Given the description of an element on the screen output the (x, y) to click on. 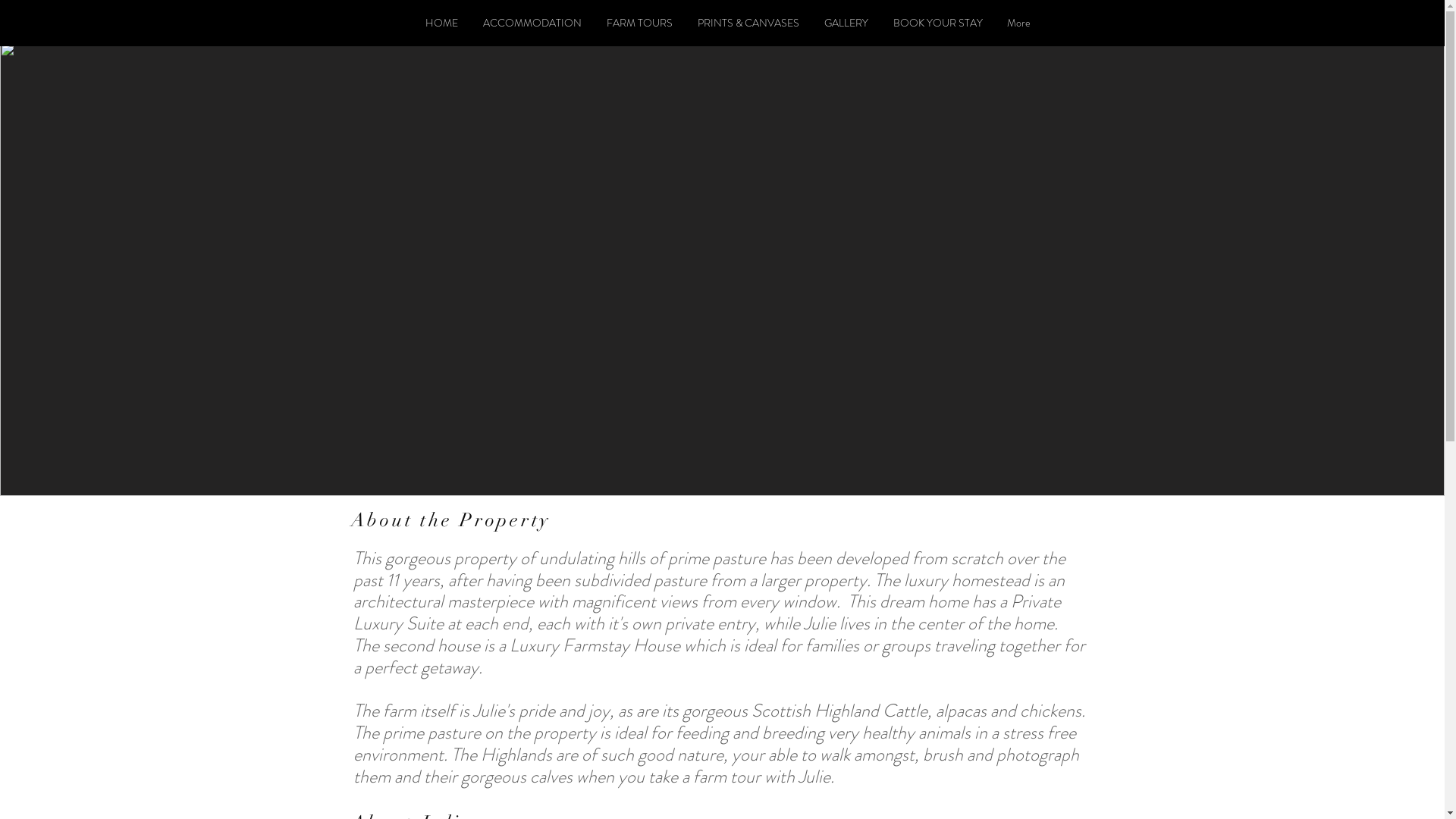
ACCOMMODATION Element type: text (531, 22)
GALLERY Element type: text (845, 22)
FARM TOURS Element type: text (639, 22)
HOME Element type: text (441, 22)
PRINTS & CANVASES Element type: text (748, 22)
BOOK YOUR STAY Element type: text (937, 22)
